Given the description of an element on the screen output the (x, y) to click on. 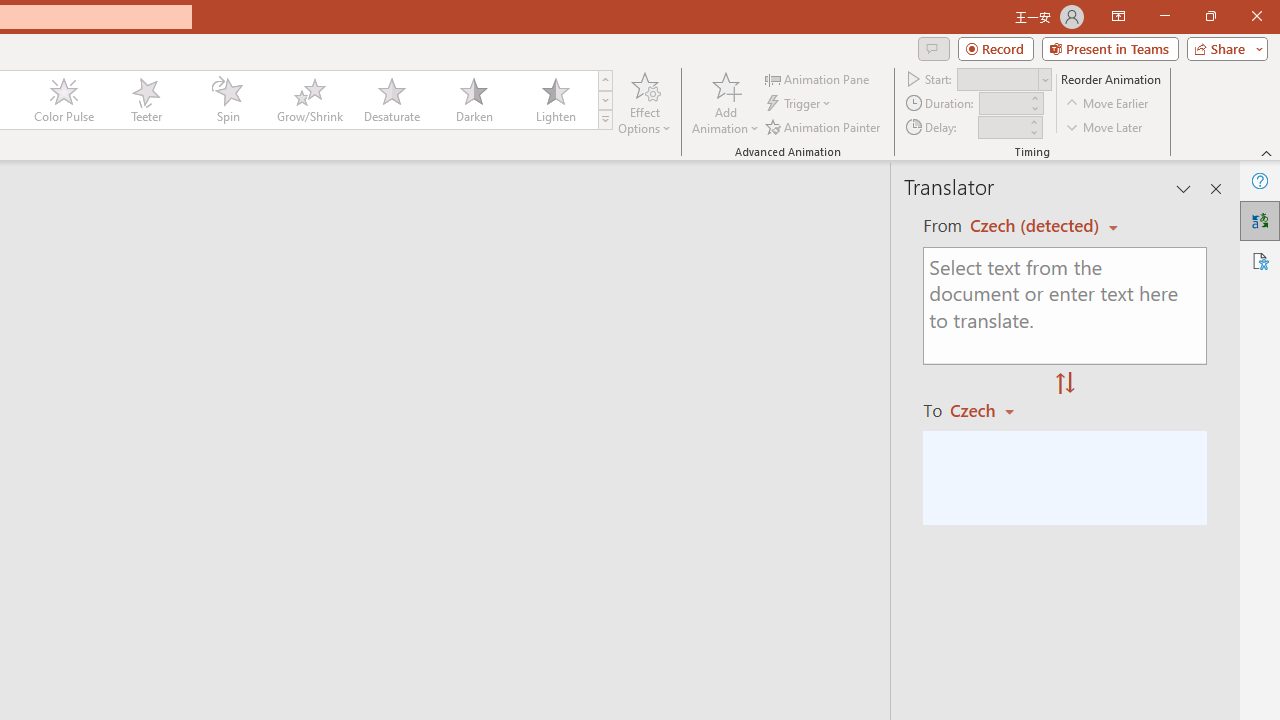
Spin (227, 100)
Trigger (799, 103)
Animation Pane (818, 78)
Animation Delay (1002, 127)
Color Pulse (63, 100)
Animation Duration (1003, 103)
Teeter (145, 100)
Animation Styles (605, 120)
Add Animation (725, 102)
